Given the description of an element on the screen output the (x, y) to click on. 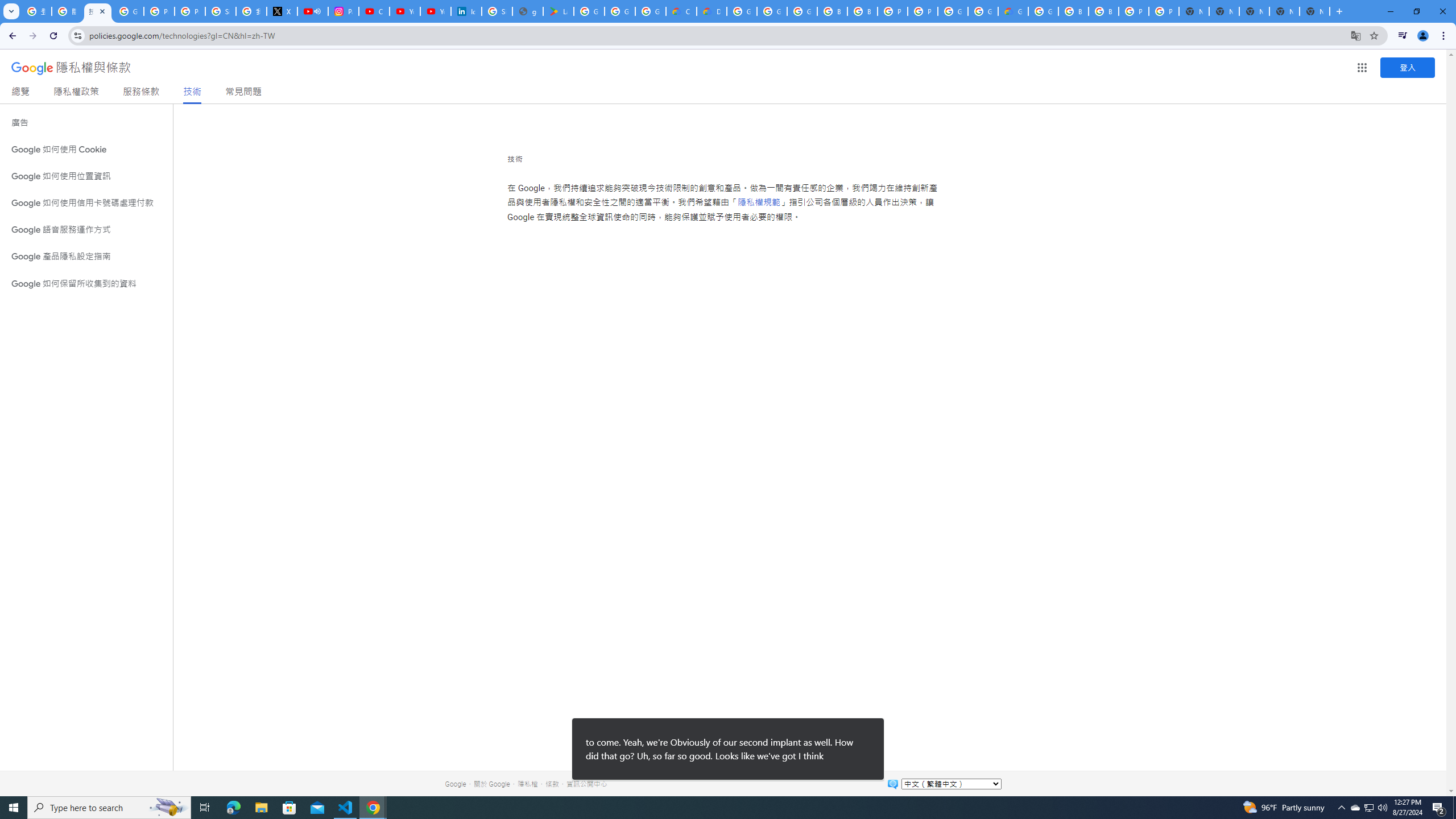
Last Shelter: Survival - Apps on Google Play (558, 11)
Browse Chrome as a guest - Computer - Google Chrome Help (1072, 11)
Privacy Help Center - Policies Help (189, 11)
